Given the description of an element on the screen output the (x, y) to click on. 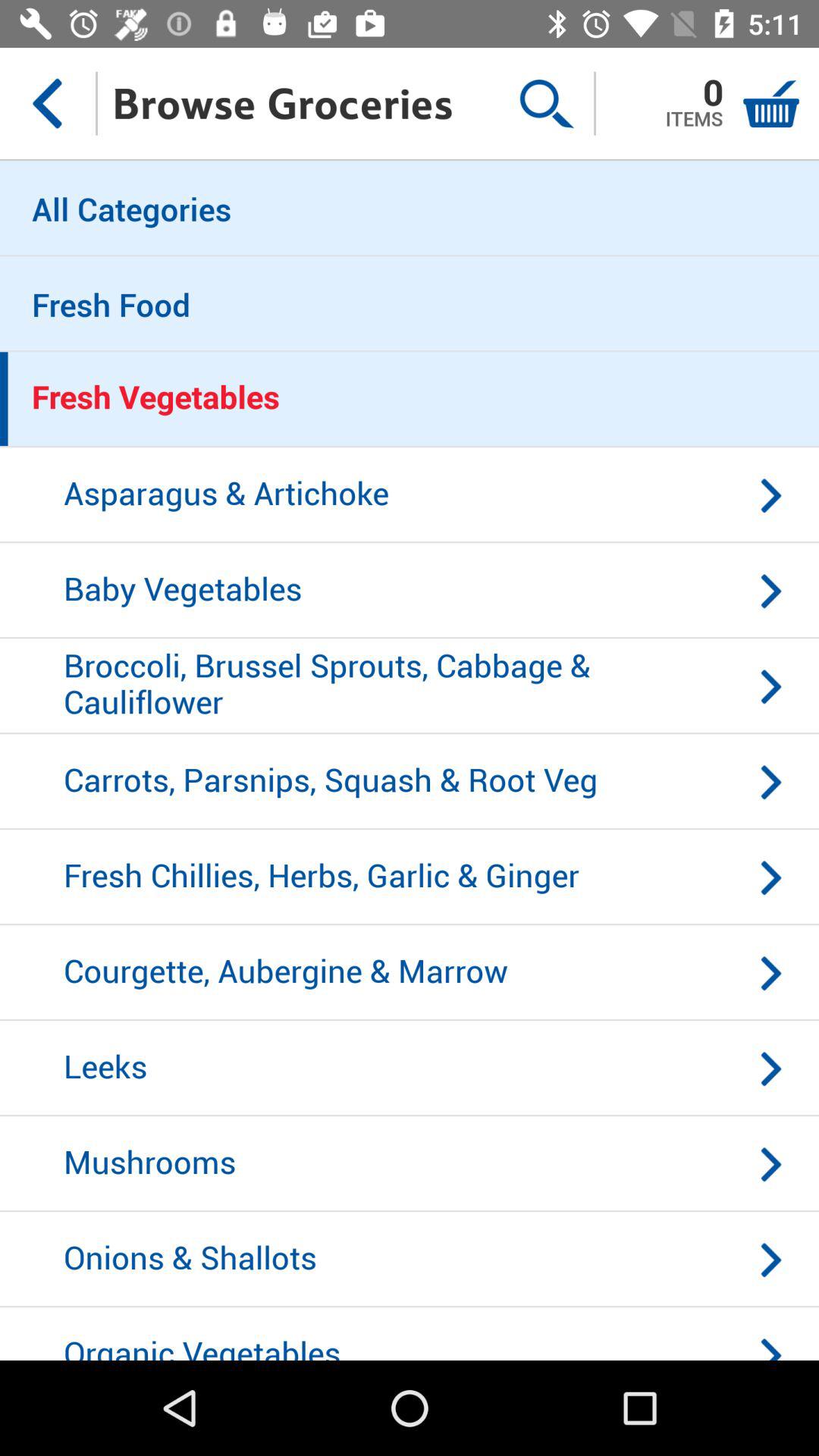
flip to the broccoli brussel sprouts (409, 686)
